Given the description of an element on the screen output the (x, y) to click on. 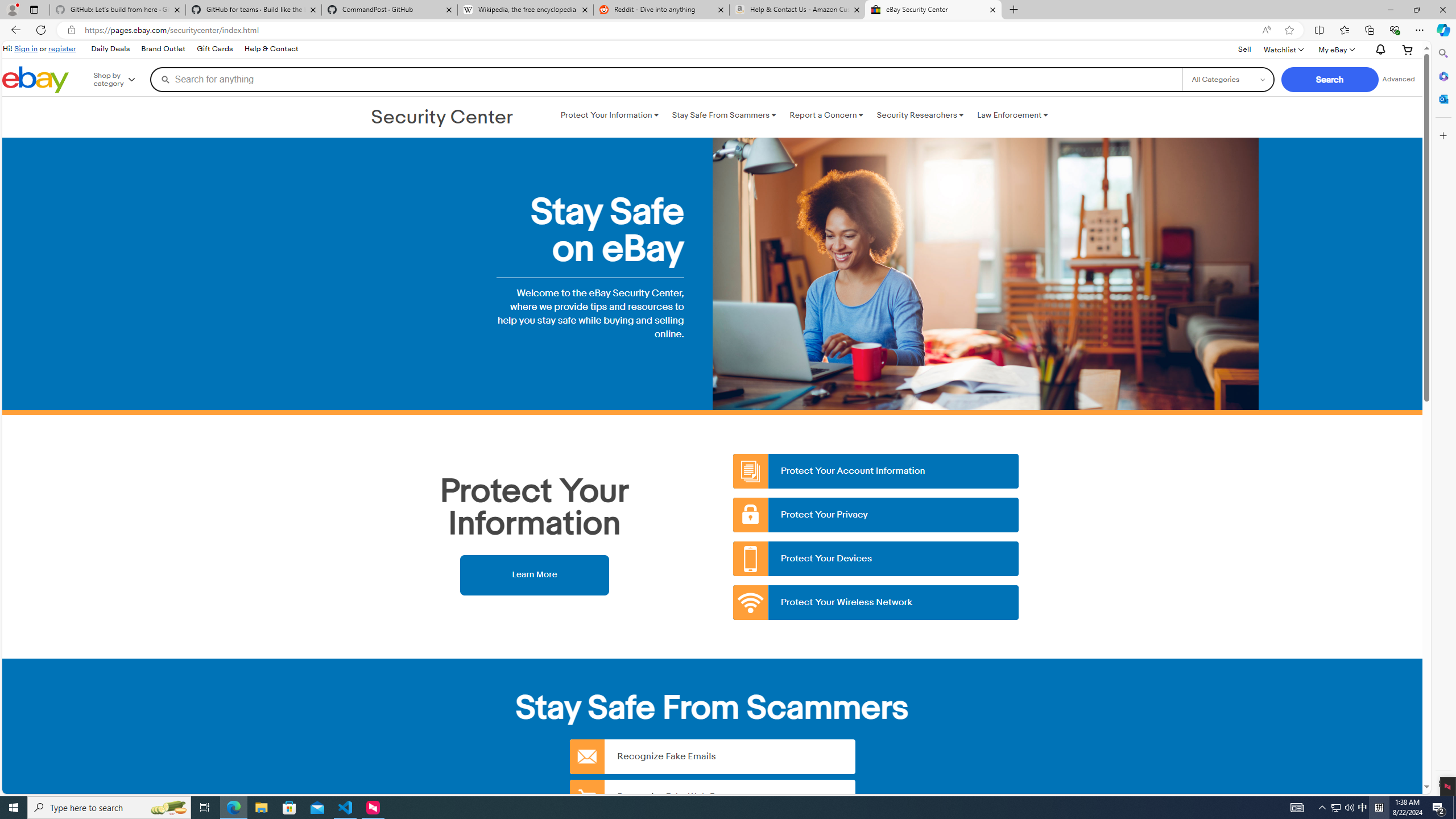
Close Outlook pane (1442, 98)
Report a Concern  (826, 115)
